Given the description of an element on the screen output the (x, y) to click on. 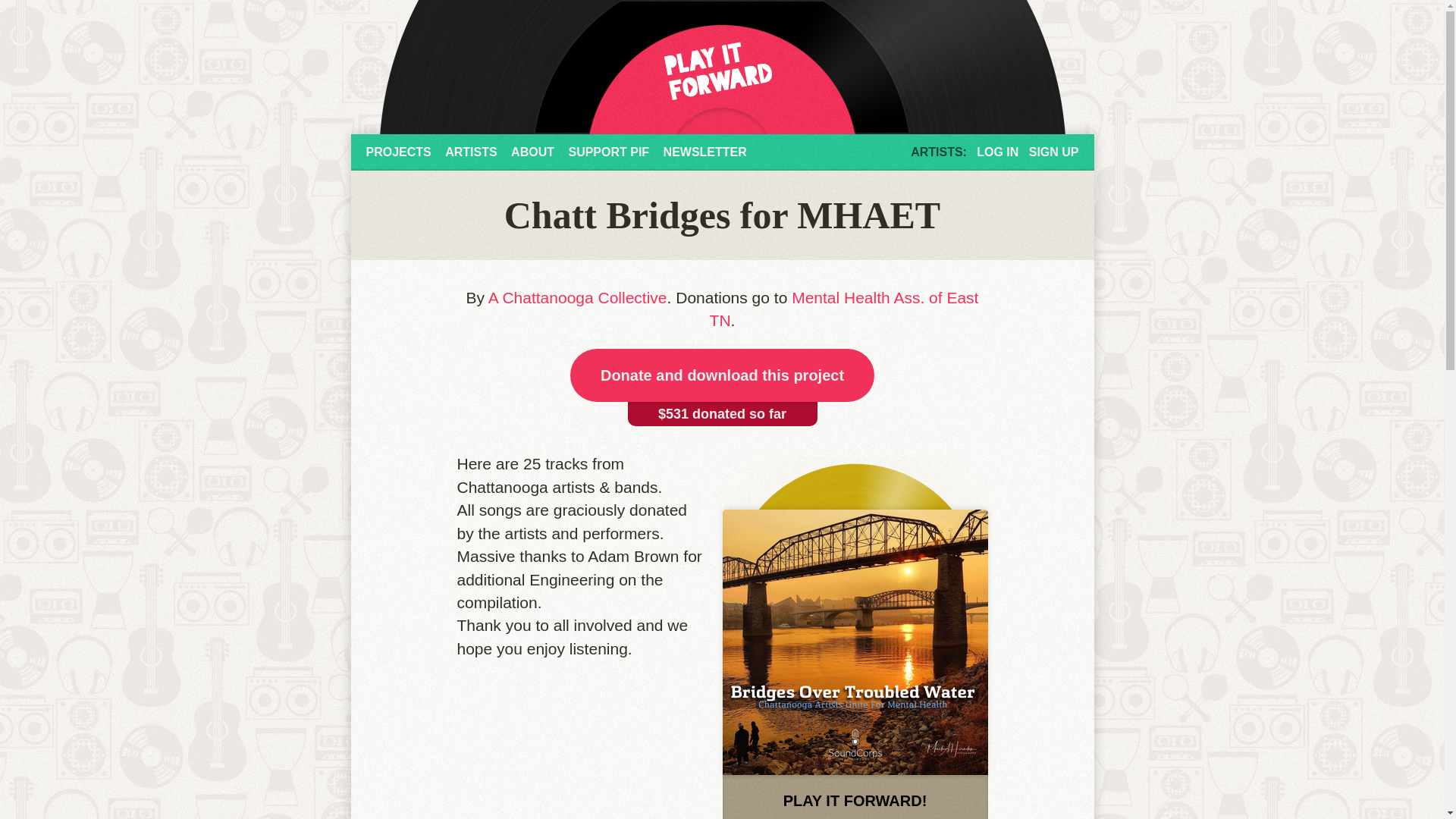
PROJECTS (397, 151)
SIGN UP (1053, 151)
A Chattanooga Collective (576, 297)
ARTISTS (470, 151)
Donate and download this project (722, 375)
SUPPORT PIF (608, 151)
LOG IN (996, 151)
Mental Health Ass. of East TN (844, 309)
ABOUT (532, 151)
NEWSLETTER (704, 151)
